Given the description of an element on the screen output the (x, y) to click on. 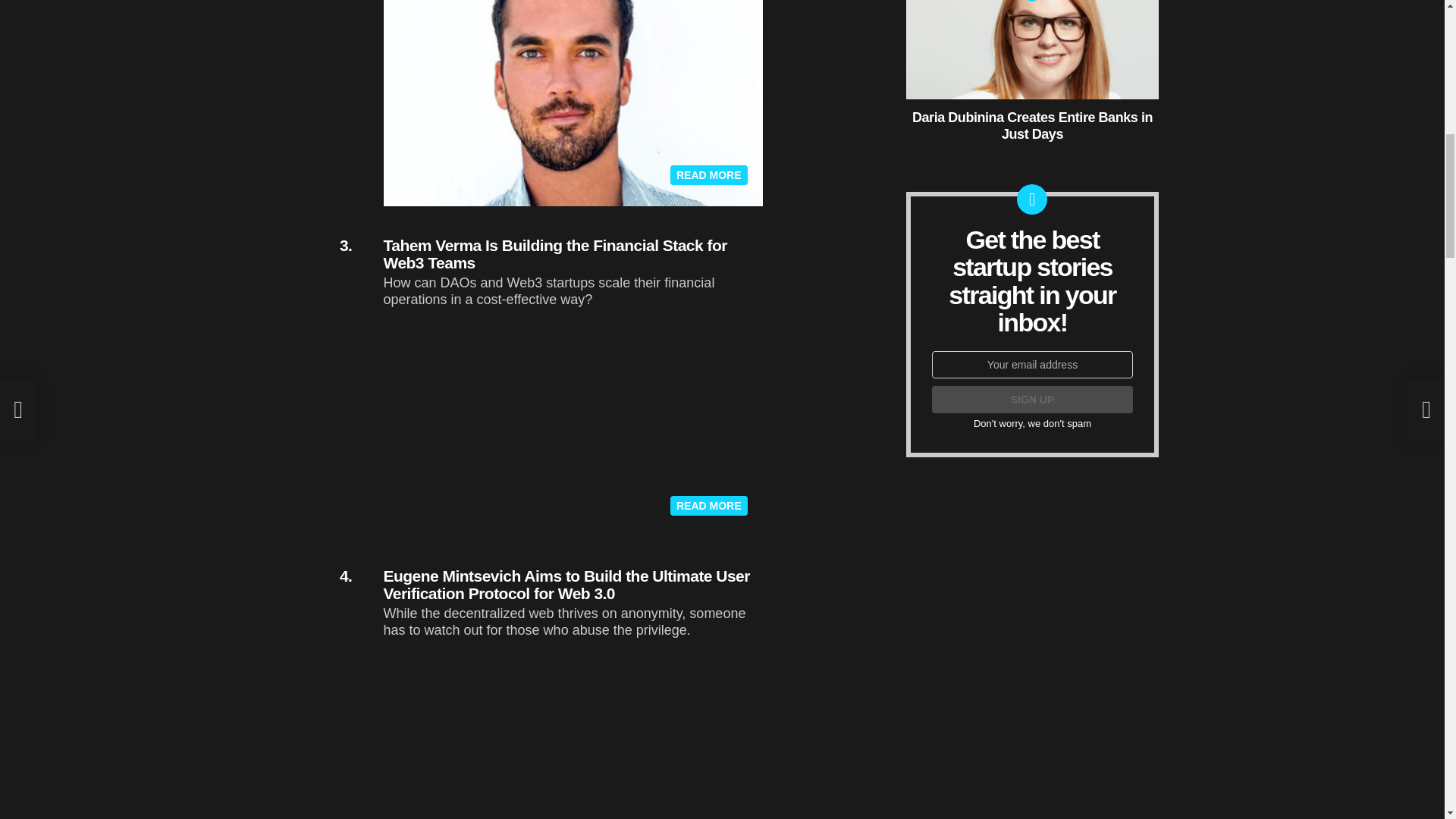
READ MORE (708, 175)
READ MORE (708, 505)
Tahem Verma Is Building the Financial Stack for Web3 Teams (555, 253)
Sign up (1031, 399)
